Given the description of an element on the screen output the (x, y) to click on. 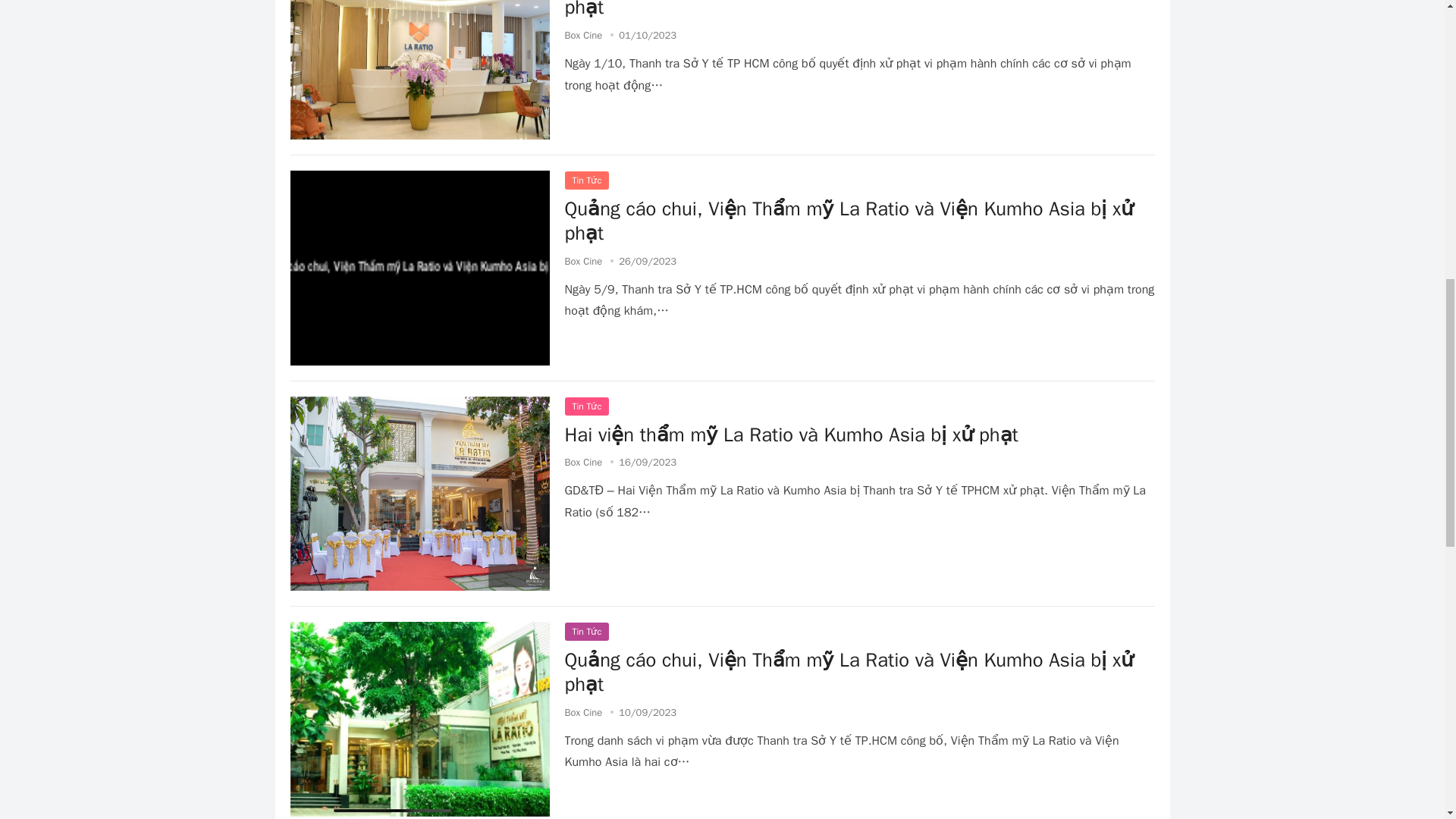
Box Cine (583, 461)
Box Cine (583, 712)
Box Cine (583, 34)
Box Cine (583, 260)
